Given the description of an element on the screen output the (x, y) to click on. 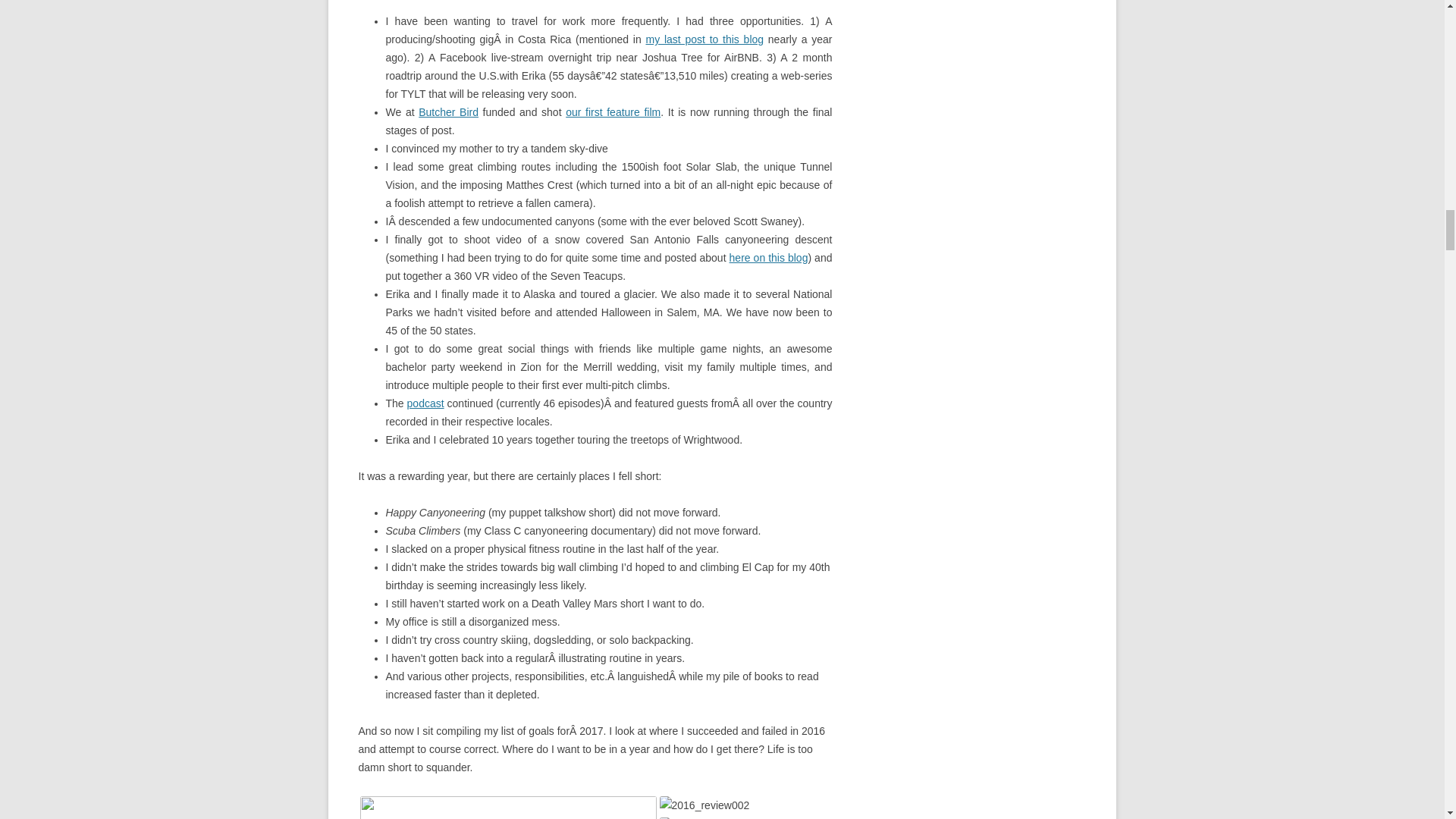
here on this blog (768, 257)
our first feature film (613, 111)
podcast (425, 403)
Butcher Bird (449, 111)
my last post to this blog (703, 39)
